Given the description of an element on the screen output the (x, y) to click on. 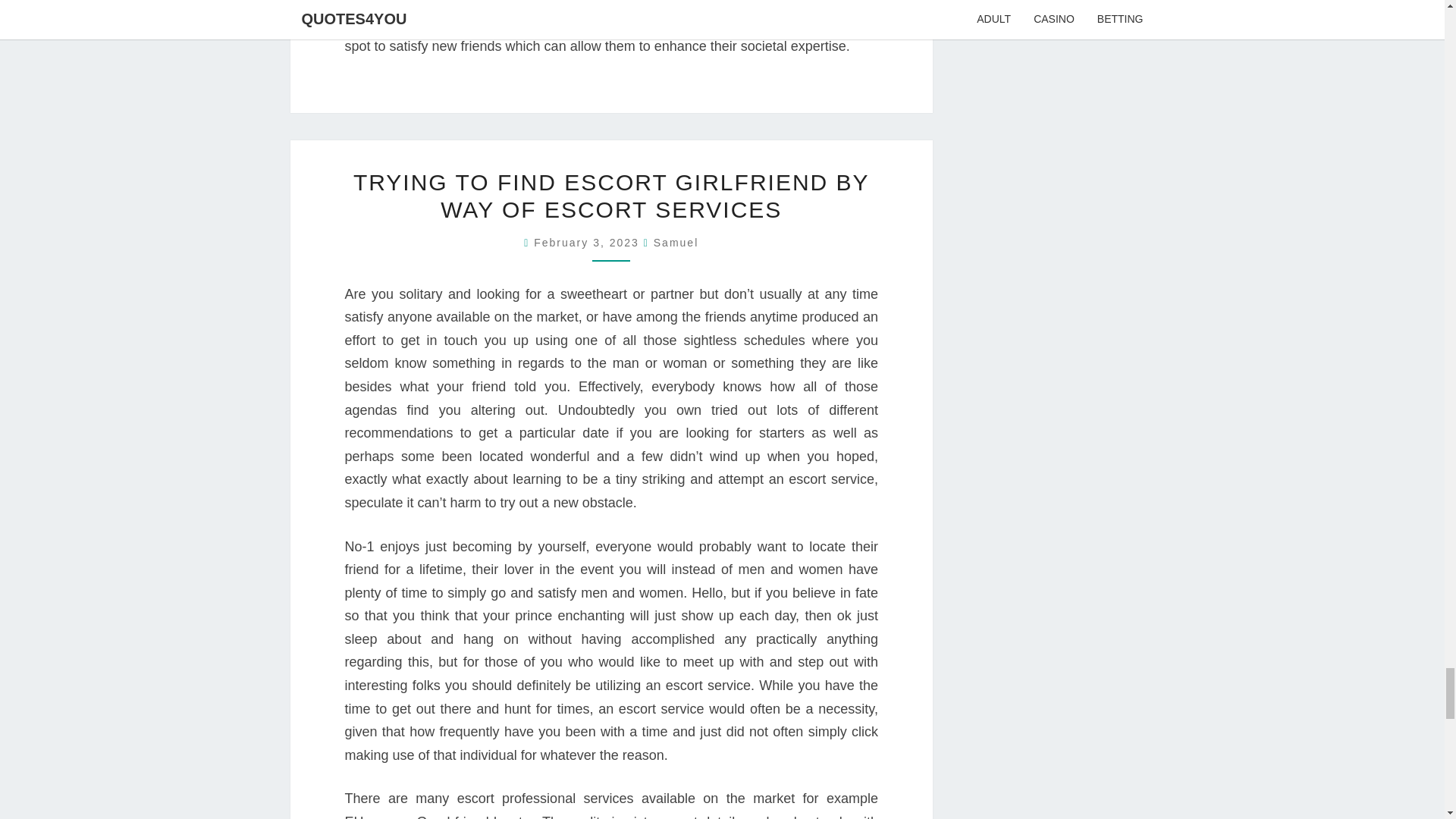
TRYING TO FIND ESCORT GIRLFRIEND BY WAY OF ESCORT SERVICES (611, 195)
